Given the description of an element on the screen output the (x, y) to click on. 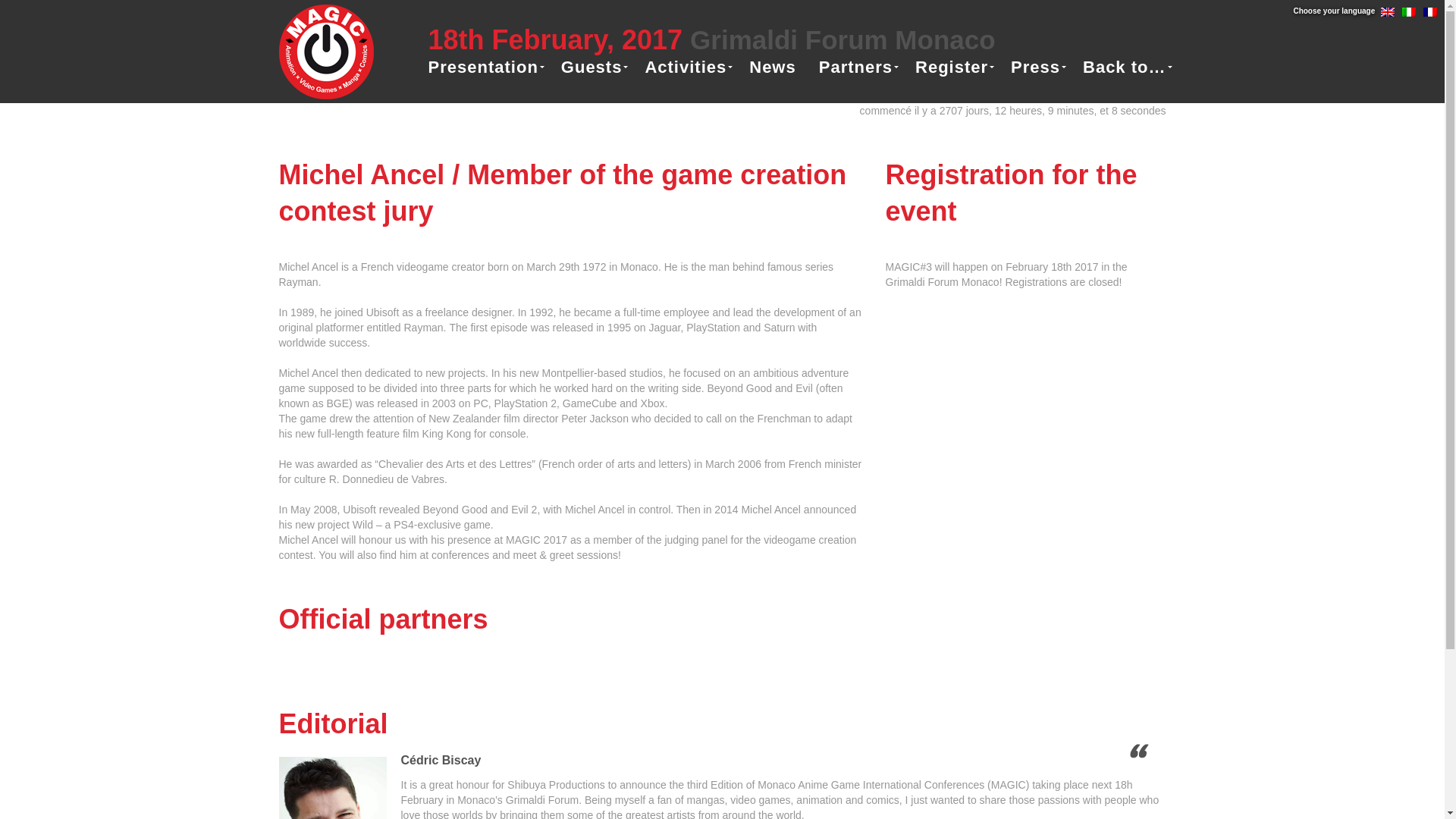
News (771, 67)
Presentation (483, 67)
Activities (685, 67)
Partners (855, 67)
Guests (591, 67)
Press (1034, 67)
Read more... (1115, 814)
Register (951, 67)
